Given the description of an element on the screen output the (x, y) to click on. 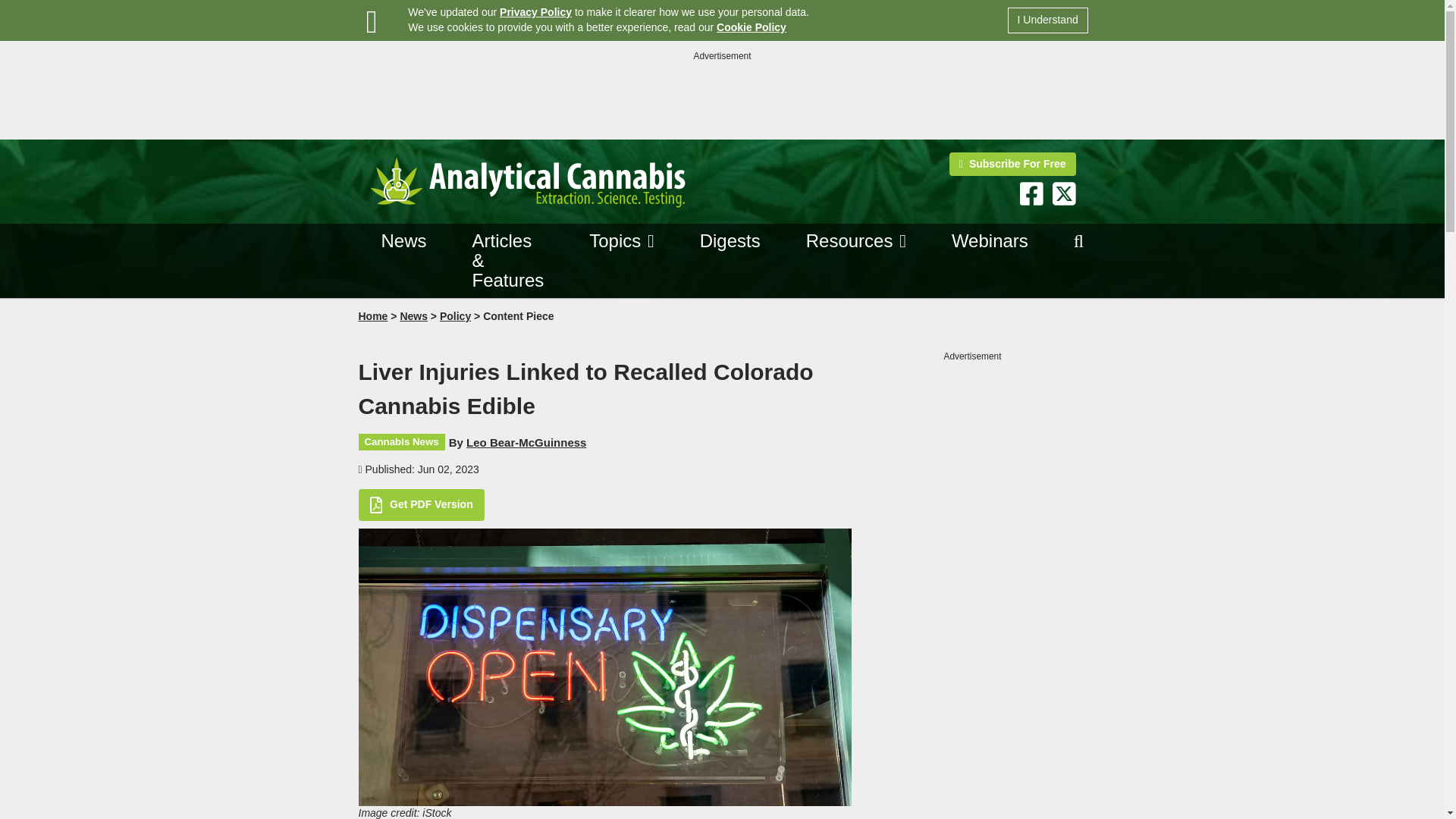
  Subscribe For Free (1012, 163)
I Understand (1047, 20)
News (403, 240)
Cookie Policy (751, 27)
Webinars (989, 240)
Digests (730, 240)
Resources (849, 240)
Privacy Policy (535, 11)
3rd party ad content (721, 97)
